Given the description of an element on the screen output the (x, y) to click on. 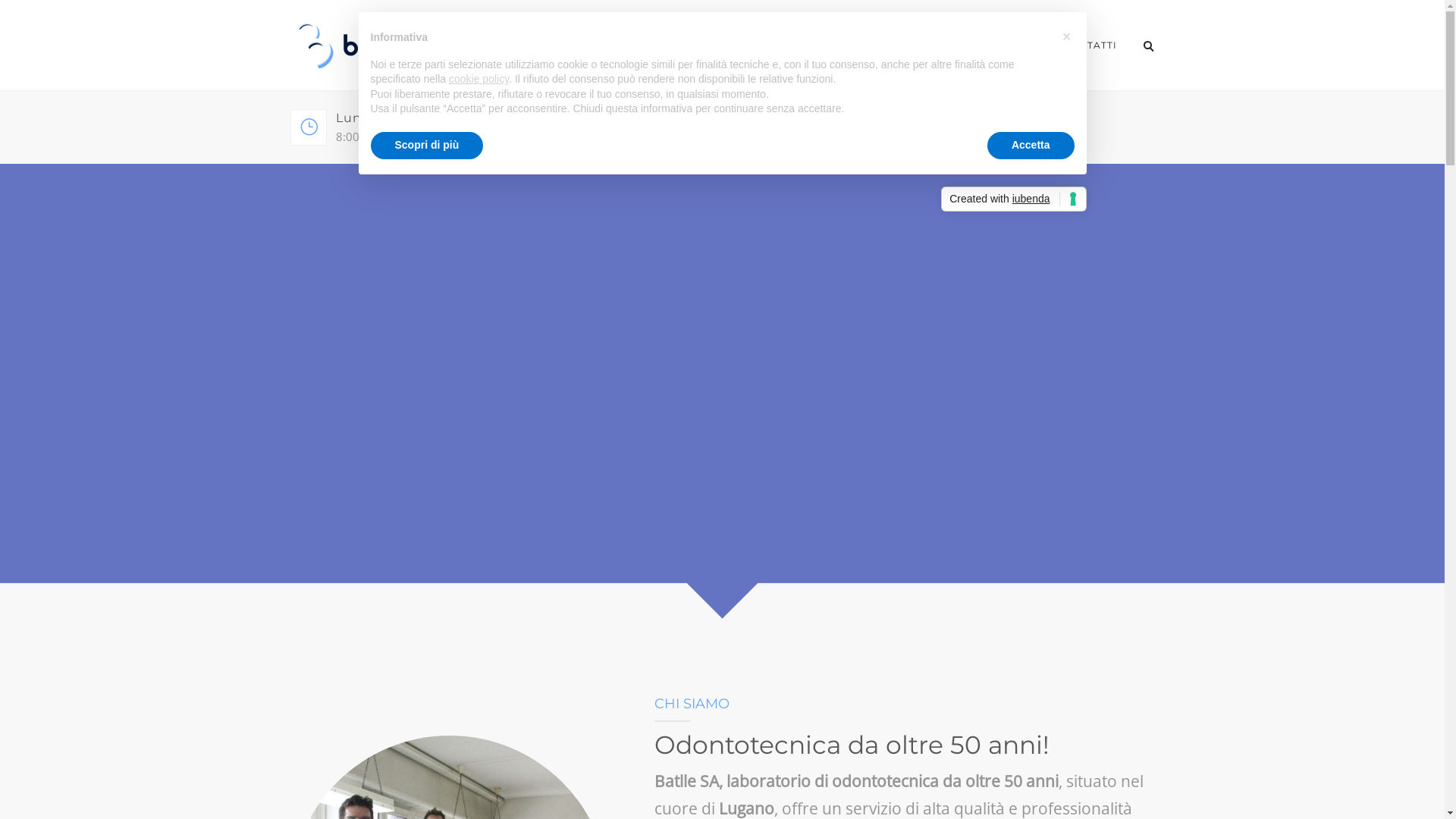
IL TEAM Element type: text (901, 45)
CHI SIAMO Element type: text (683, 45)
SERVIZI Element type: text (758, 45)
SWISSMILELABO Element type: text (992, 45)
Created with iubenda Element type: text (1013, 199)
cookie policy Element type: text (478, 78)
CONTATTI Element type: text (1089, 45)
AZIENDA Element type: text (830, 45)
Accetta Element type: text (1030, 145)
